Given the description of an element on the screen output the (x, y) to click on. 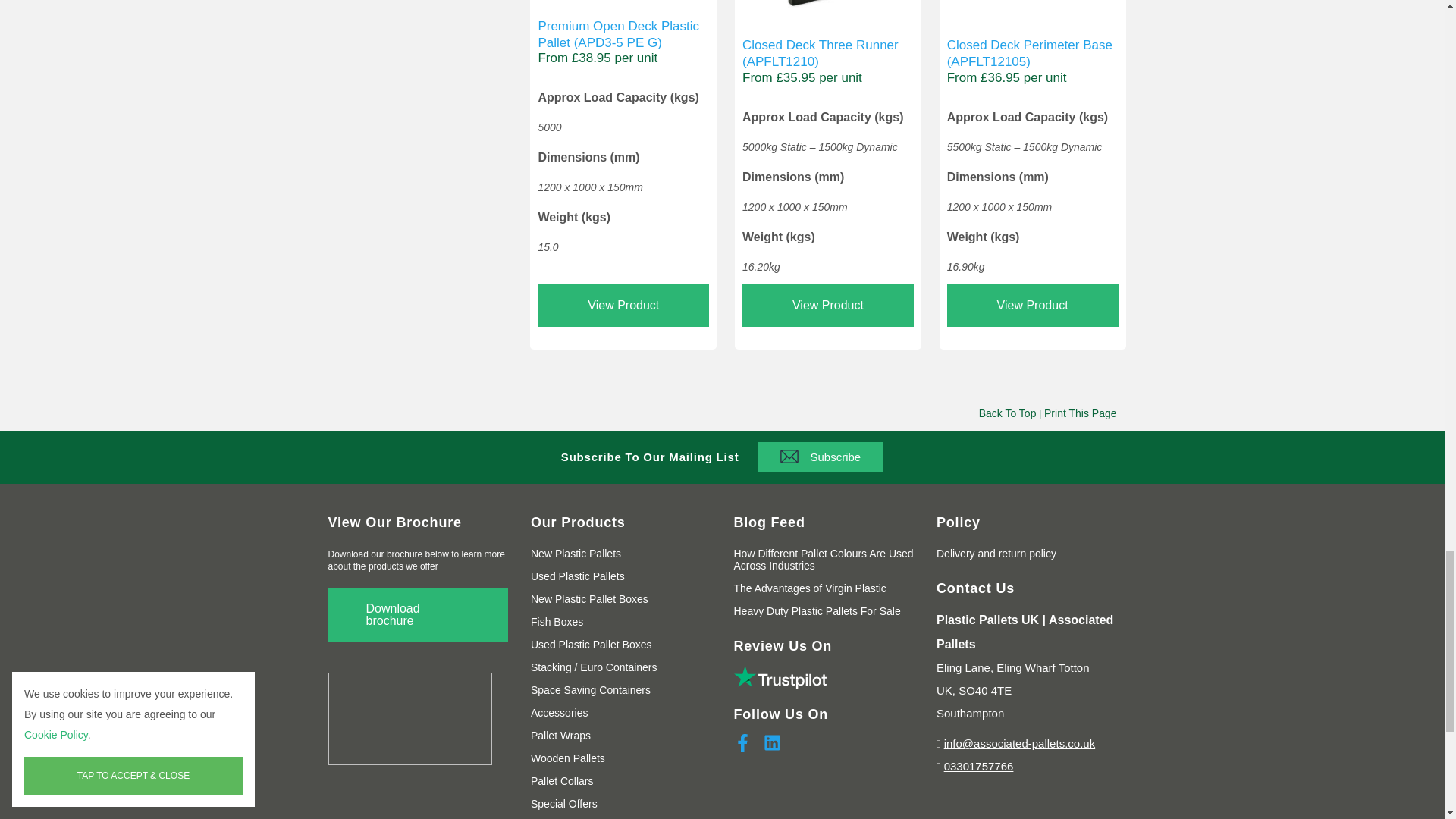
Look The Advantages of Virgin Plastic (809, 588)
Associated Pallets Brochure (417, 615)
Look Heavy Duty Plastic Pallets For Sale (817, 611)
Print This Page (1079, 413)
Look How Different Pallet Colours Are Used Across Industries (823, 559)
